Given the description of an element on the screen output the (x, y) to click on. 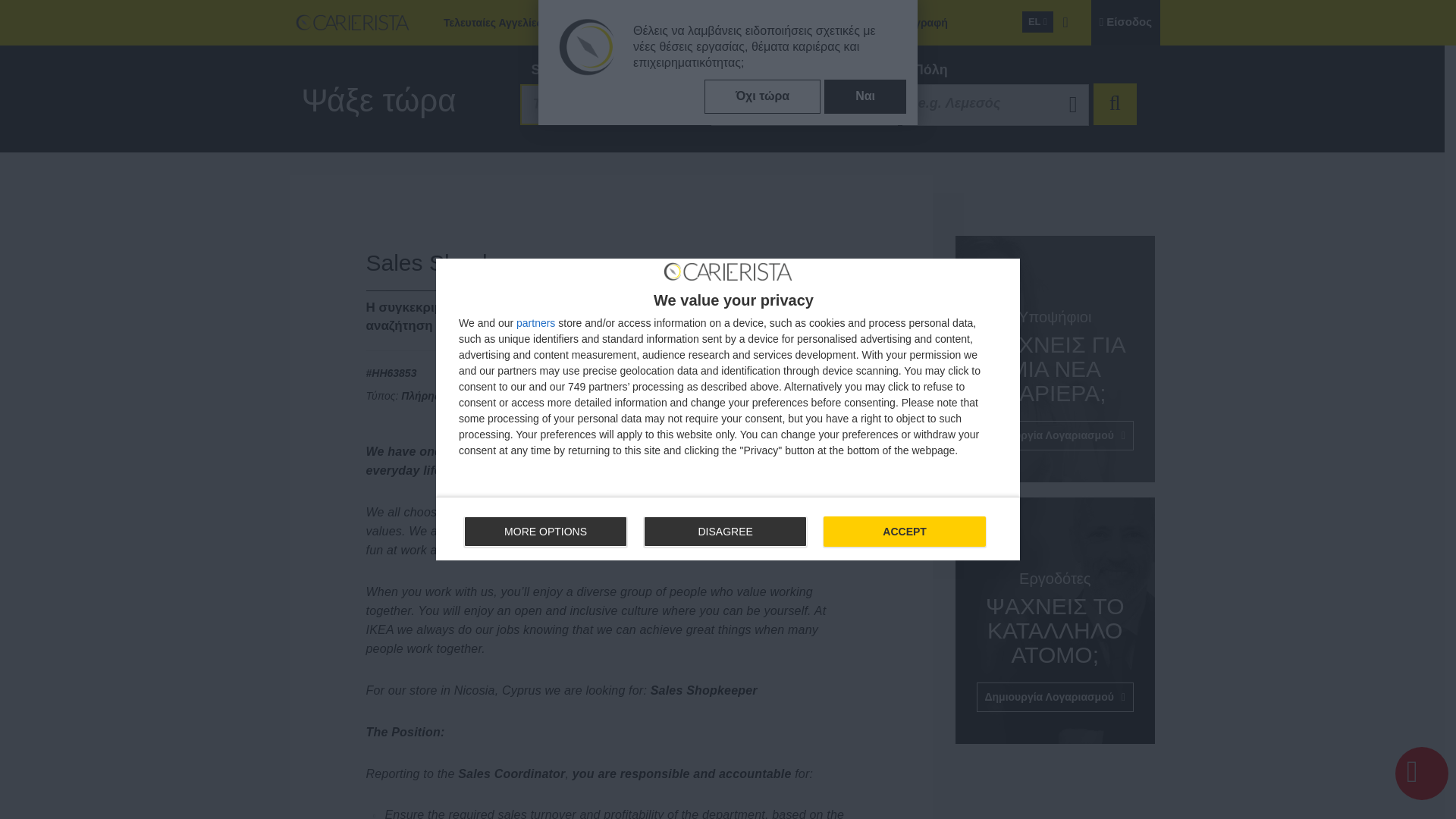
Academy (841, 22)
DISAGREE (724, 531)
MORE OPTIONS (545, 531)
EL (1037, 21)
FAQs (693, 22)
partners (535, 322)
ACCEPT (904, 531)
e.g. Forex (804, 105)
Blog (804, 105)
